Given the description of an element on the screen output the (x, y) to click on. 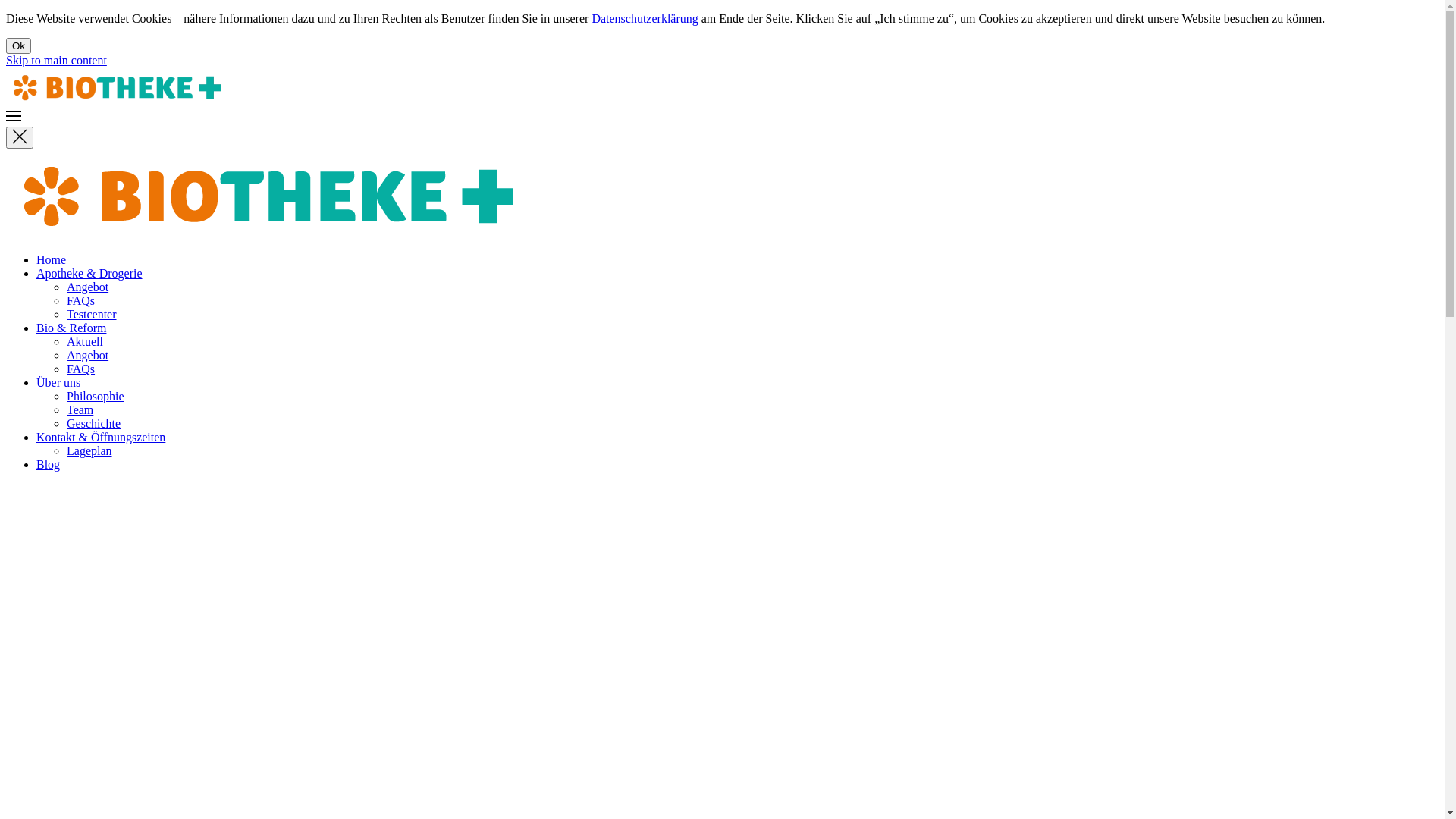
Apotheke & Drogerie Element type: text (89, 272)
Home Element type: text (50, 259)
Skip to main content Element type: text (56, 59)
Angebot Element type: text (87, 354)
Geschichte Element type: text (93, 423)
Team Element type: text (79, 409)
Blog Element type: text (47, 464)
Ok Element type: text (18, 45)
Angebot Element type: text (87, 286)
FAQs Element type: text (80, 368)
Testcenter Element type: text (91, 313)
FAQs Element type: text (80, 300)
Philosophie Element type: text (95, 395)
Biotheke Element type: hover (271, 233)
Aktuell Element type: text (84, 341)
Lageplan Element type: text (89, 450)
Bio & Reform Element type: text (71, 327)
